Given the description of an element on the screen output the (x, y) to click on. 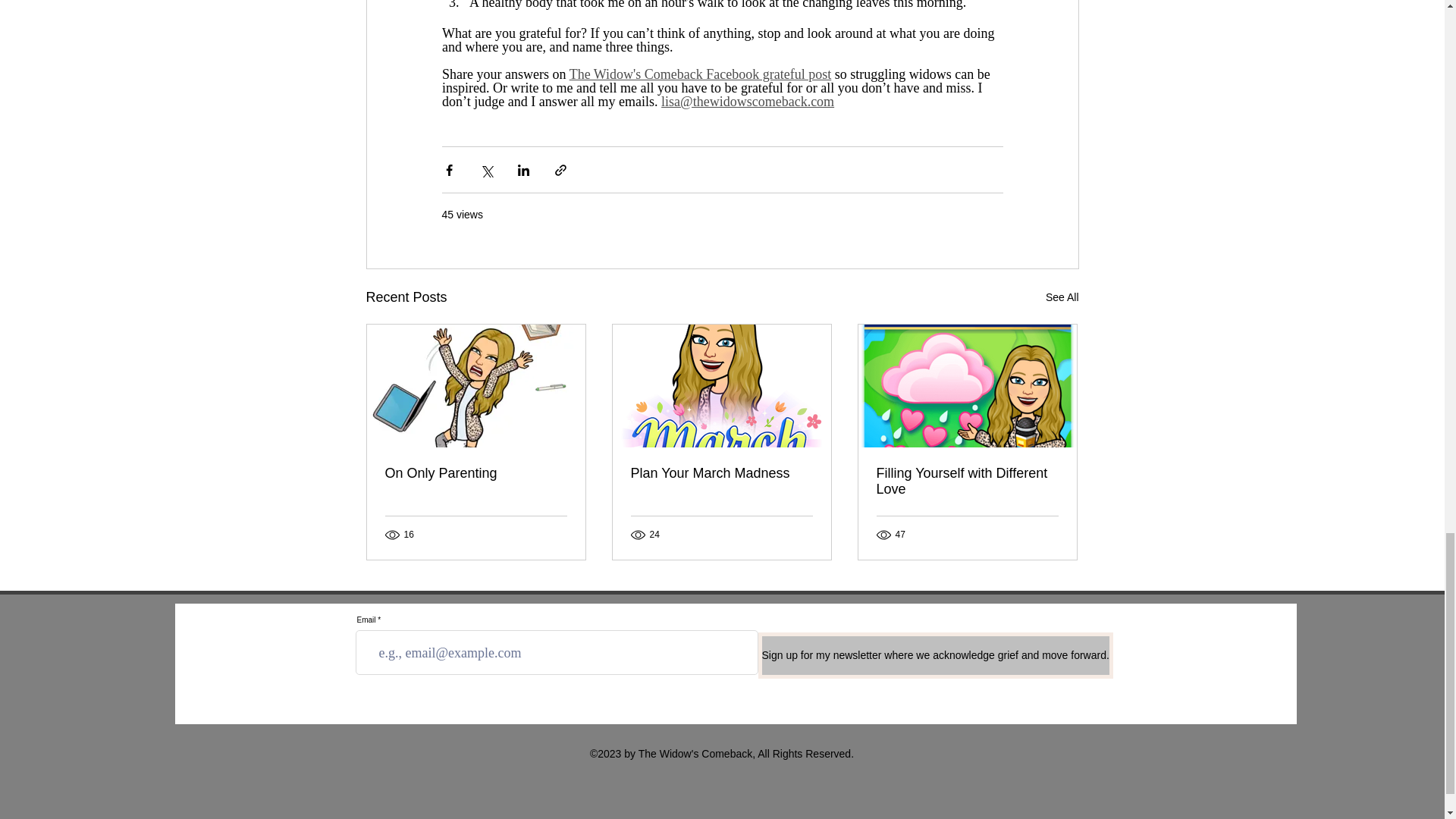
Filling Yourself with Different Love (967, 481)
On Only Parenting (476, 473)
See All (1061, 297)
The Widow's Comeback Facebook grateful post (700, 73)
Plan Your March Madness (721, 473)
